Given the description of an element on the screen output the (x, y) to click on. 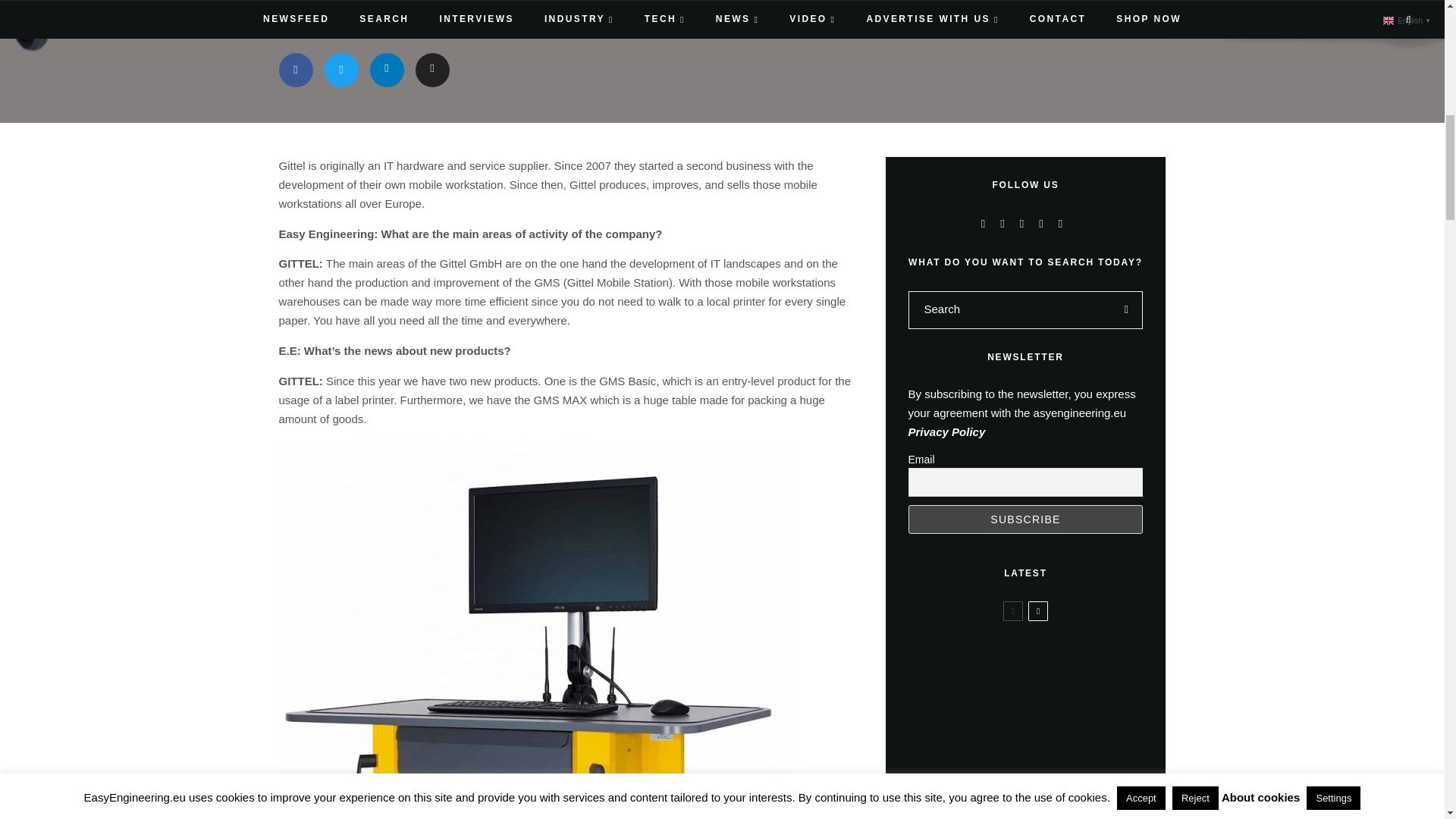
Subscribe (1025, 519)
